Given the description of an element on the screen output the (x, y) to click on. 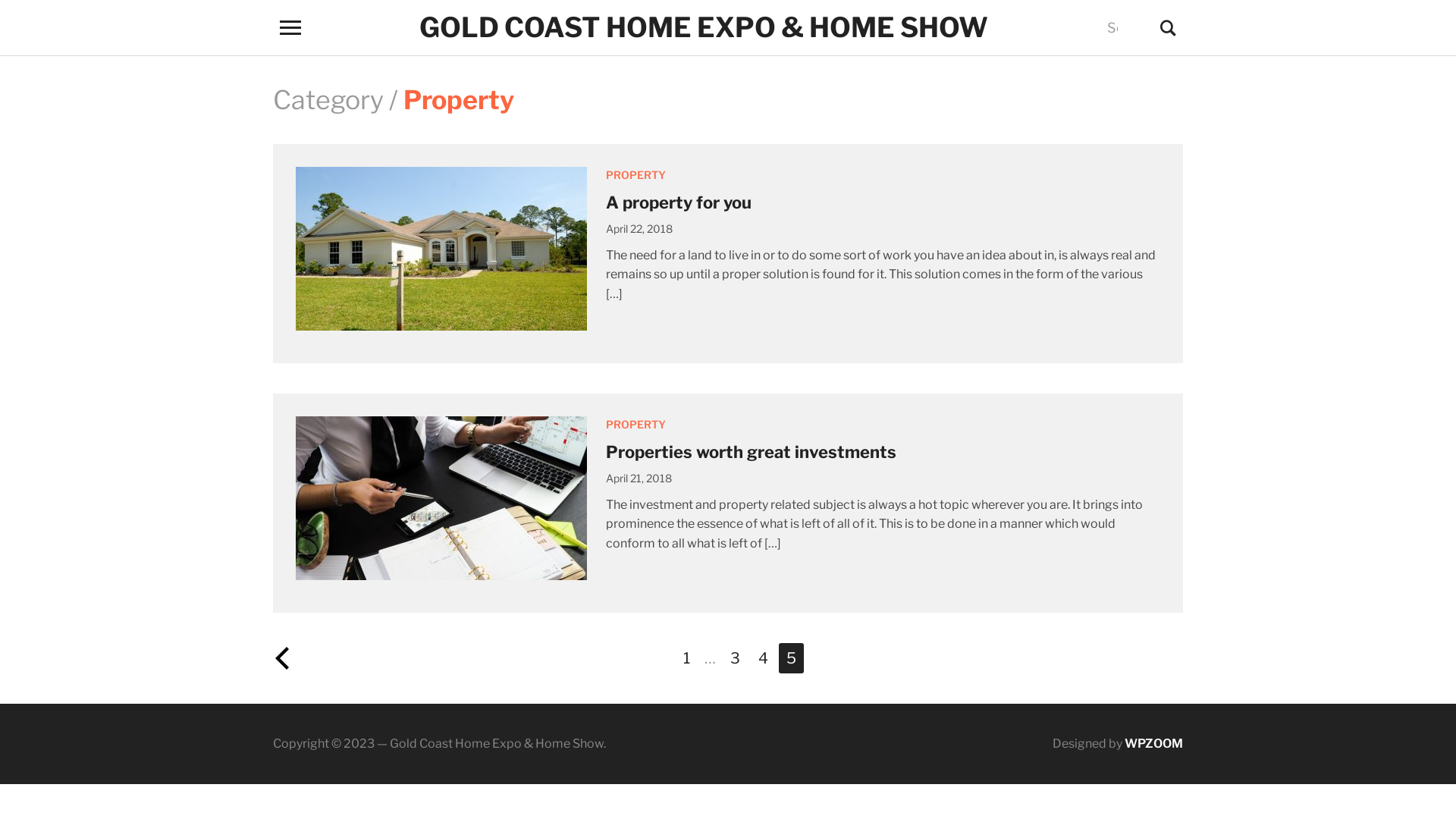
Toggle sidebar & navigation Element type: text (290, 27)
A property for you Element type: text (678, 202)
PROPERTY Element type: text (635, 174)
A property for you Element type: hover (440, 248)
PROPERTY Element type: text (635, 423)
4 Element type: text (762, 658)
Properties worth great investments Element type: text (750, 451)
WPZOOM Element type: text (1153, 743)
Properties worth great investments Element type: hover (440, 497)
1 Element type: text (685, 658)
GOLD COAST HOME EXPO & HOME SHOW Element type: text (703, 26)
3 Element type: text (733, 658)
